Given the description of an element on the screen output the (x, y) to click on. 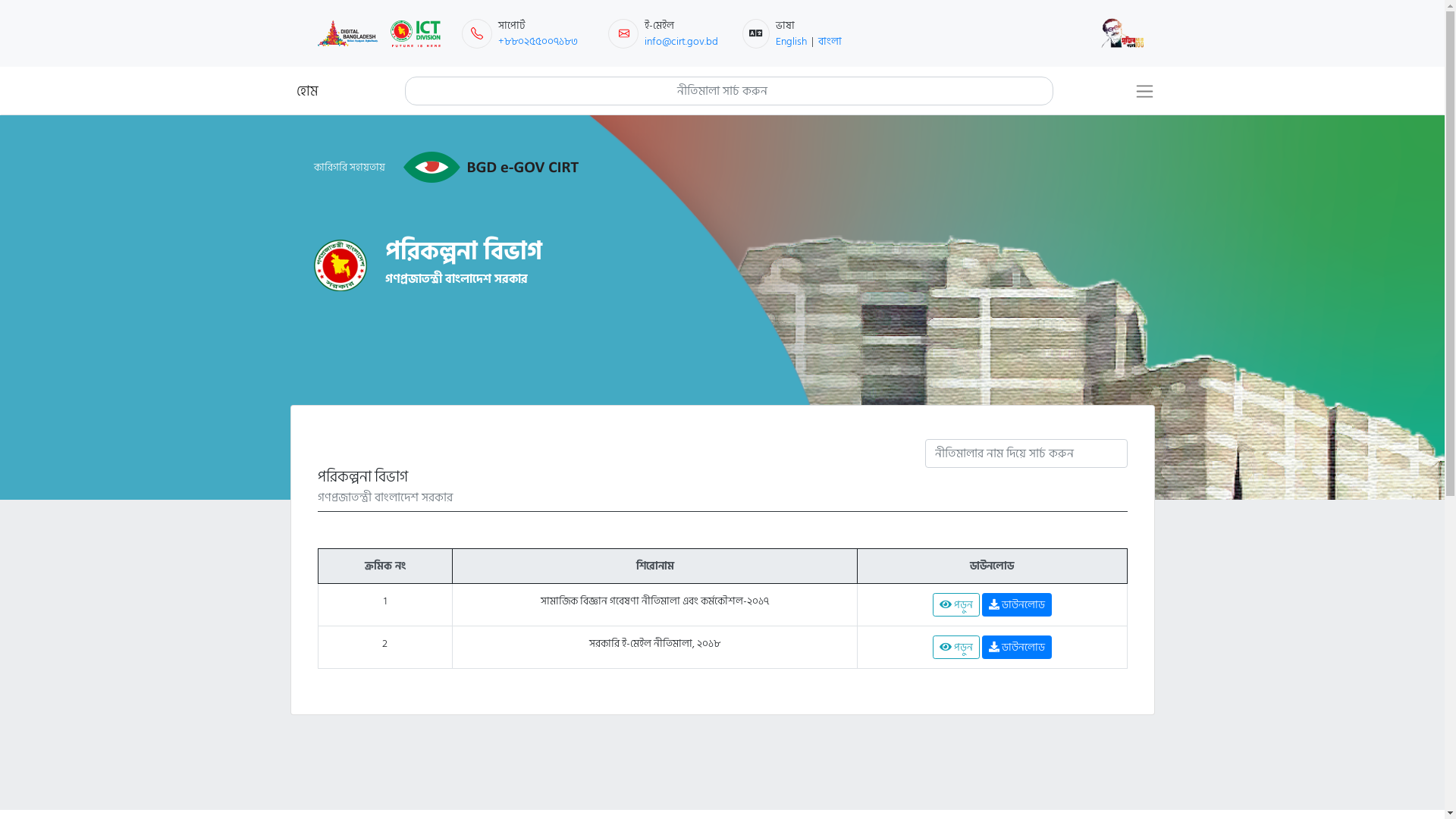
English Element type: text (790, 41)
info@cirt.gov.bd Element type: text (681, 41)
